Given the description of an element on the screen output the (x, y) to click on. 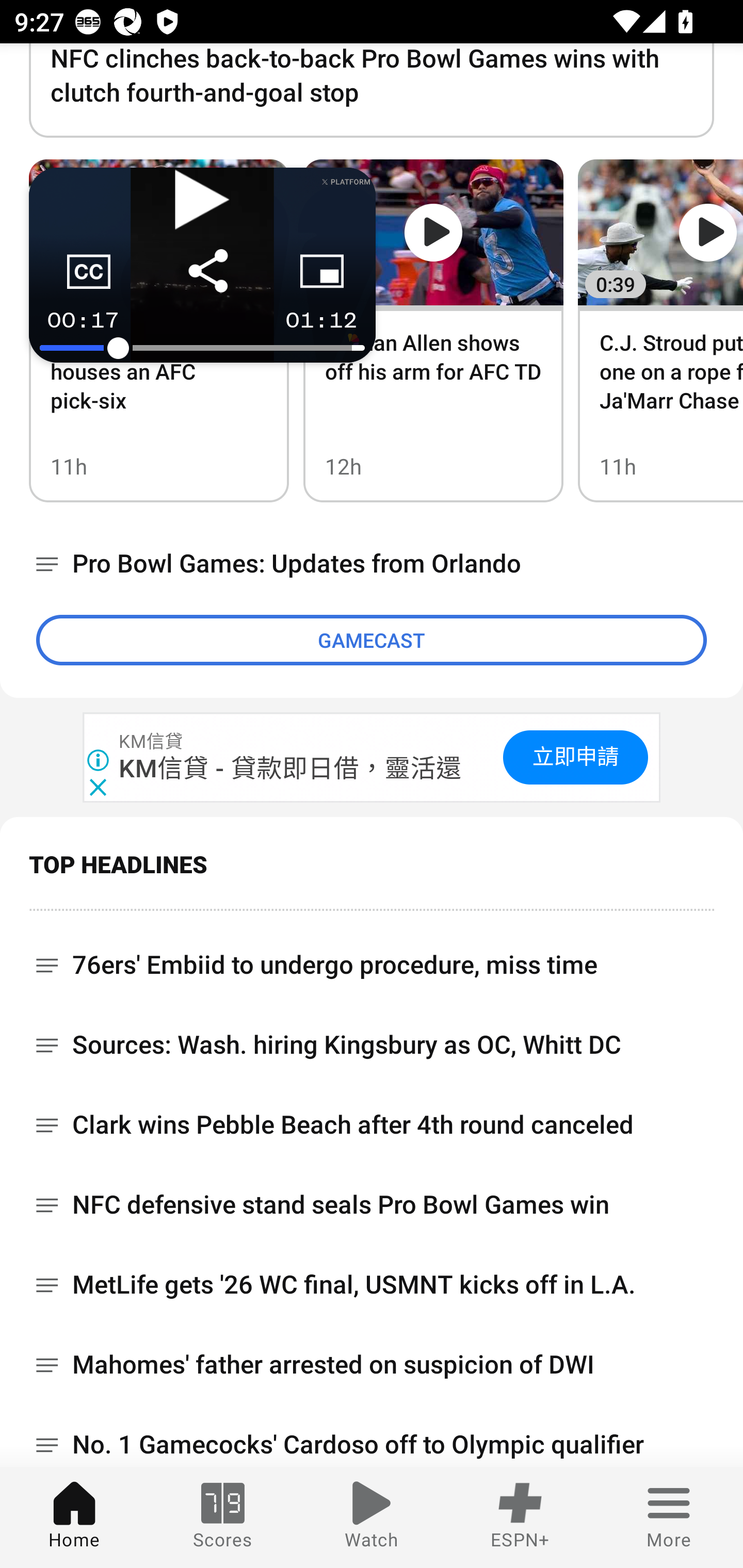
 Pro Bowl Games: Updates from Orlando (371, 563)
GAMECAST (371, 639)
KM信貸 (151, 742)
立即申請 (575, 757)
KM信貸 - 貸款即日借，靈活還 (290, 768)
 76ers' Embiid to undergo procedure, miss time (371, 958)
 Sources: Wash. hiring Kingsbury as OC, Whitt DC (371, 1045)
 Clark wins Pebble Beach after 4th round canceled (371, 1125)
 NFC defensive stand seals Pro Bowl Games win (371, 1204)
 Mahomes' father arrested on suspicion of DWI (371, 1364)
Scores (222, 1517)
Watch (371, 1517)
ESPN+ (519, 1517)
More (668, 1517)
